Given the description of an element on the screen output the (x, y) to click on. 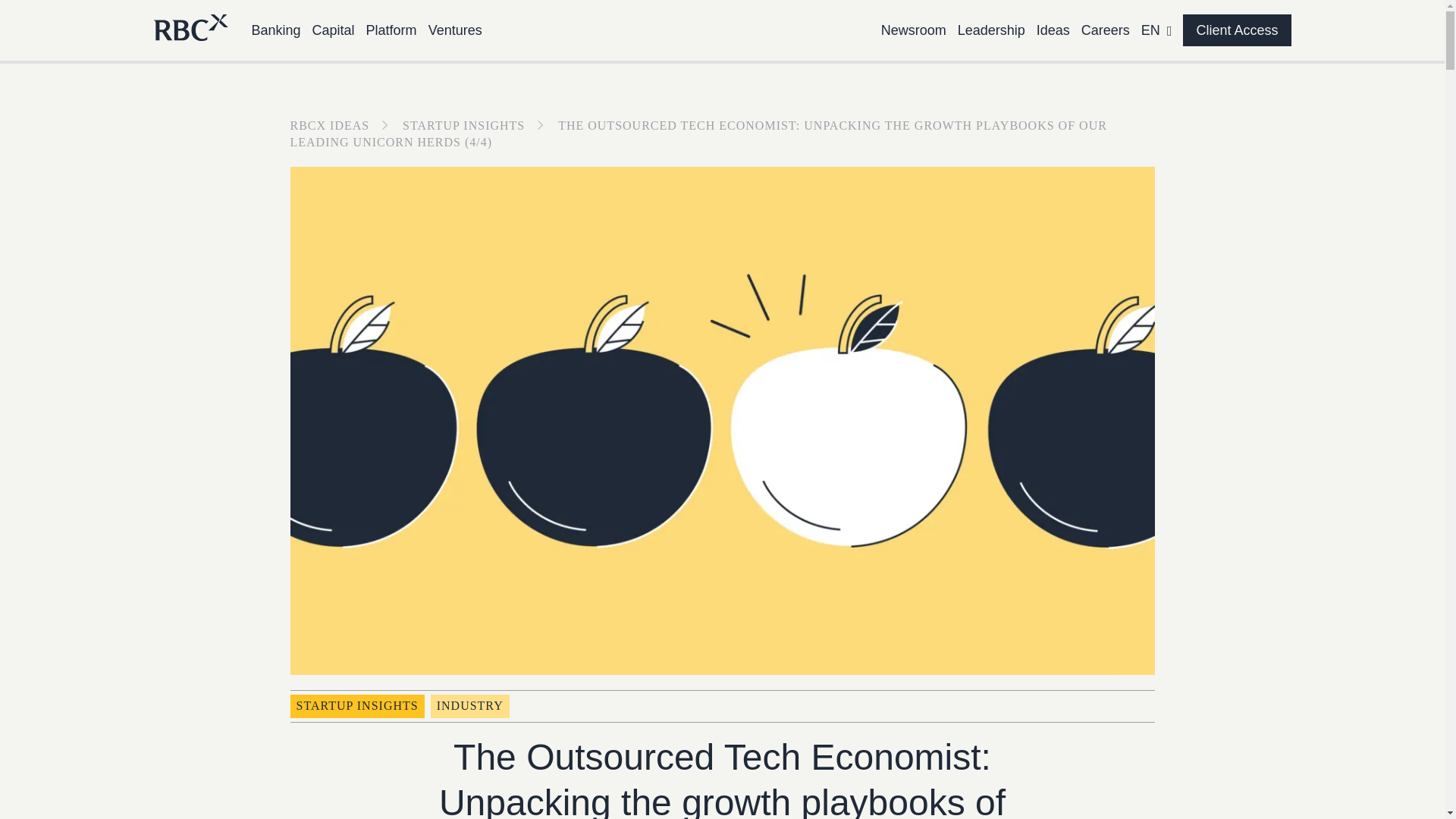
Banking (276, 29)
STARTUP INSIGHTS (356, 705)
STARTUP INSIGHTS (478, 124)
EN (1156, 29)
Leadership (991, 29)
Platform (391, 29)
Capital (334, 29)
Ideas (1053, 29)
INDUSTRY (469, 705)
